Given the description of an element on the screen output the (x, y) to click on. 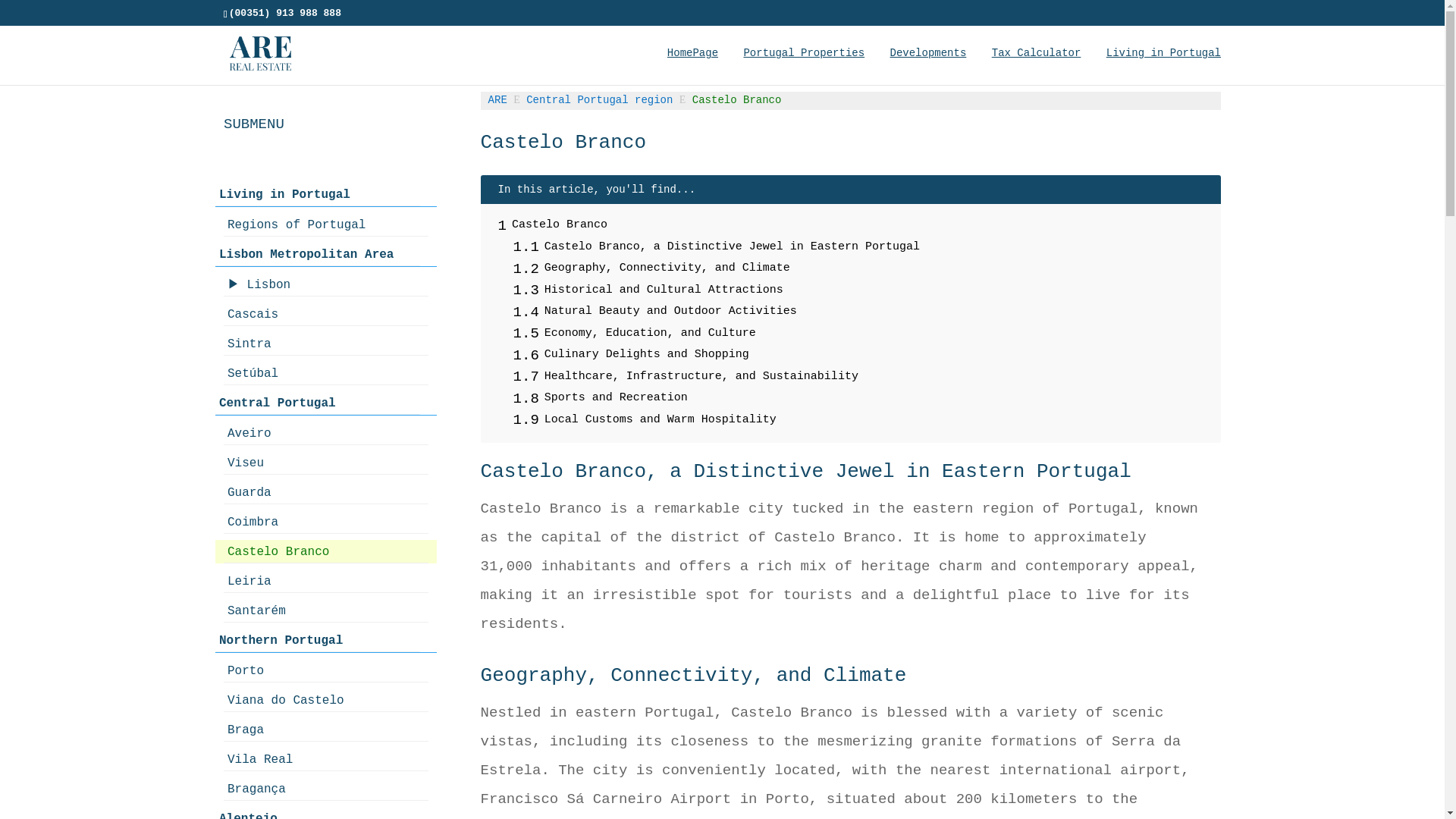
HomePage (691, 65)
Guarda (326, 492)
Sintra (326, 343)
Leiria (326, 580)
Braga (326, 730)
Castelo Branco (326, 551)
Tax Calculator (1036, 65)
Living in Portugal (1163, 65)
Northern Portugal (317, 639)
Portugal Properties (803, 65)
Lisbon Metropolitan Area (317, 254)
Regions of Portugal (326, 224)
Central Portugal (317, 402)
Cascais (326, 313)
Alentejo (317, 812)
